Given the description of an element on the screen output the (x, y) to click on. 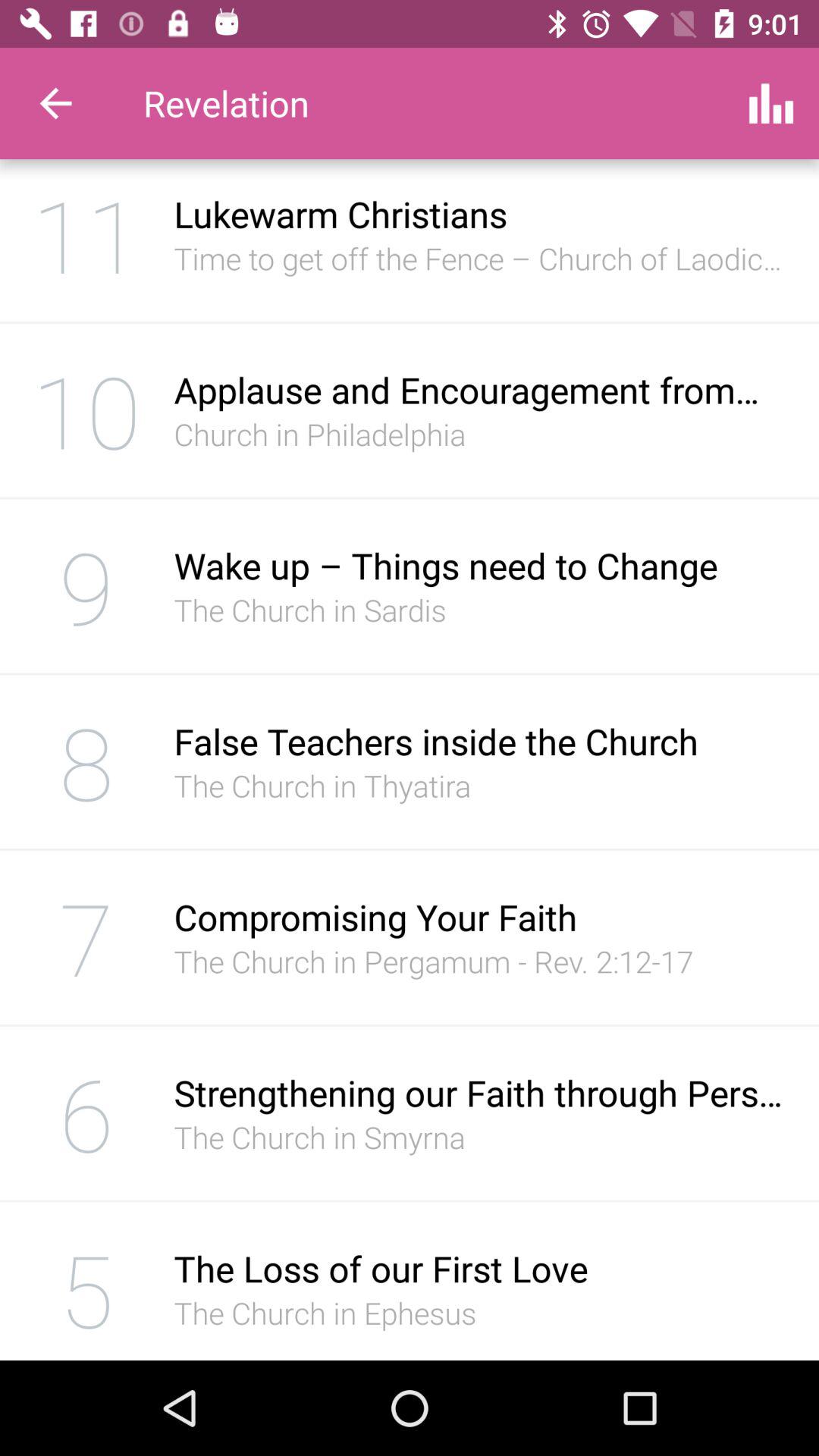
press item next to the 6 item (480, 1092)
